Given the description of an element on the screen output the (x, y) to click on. 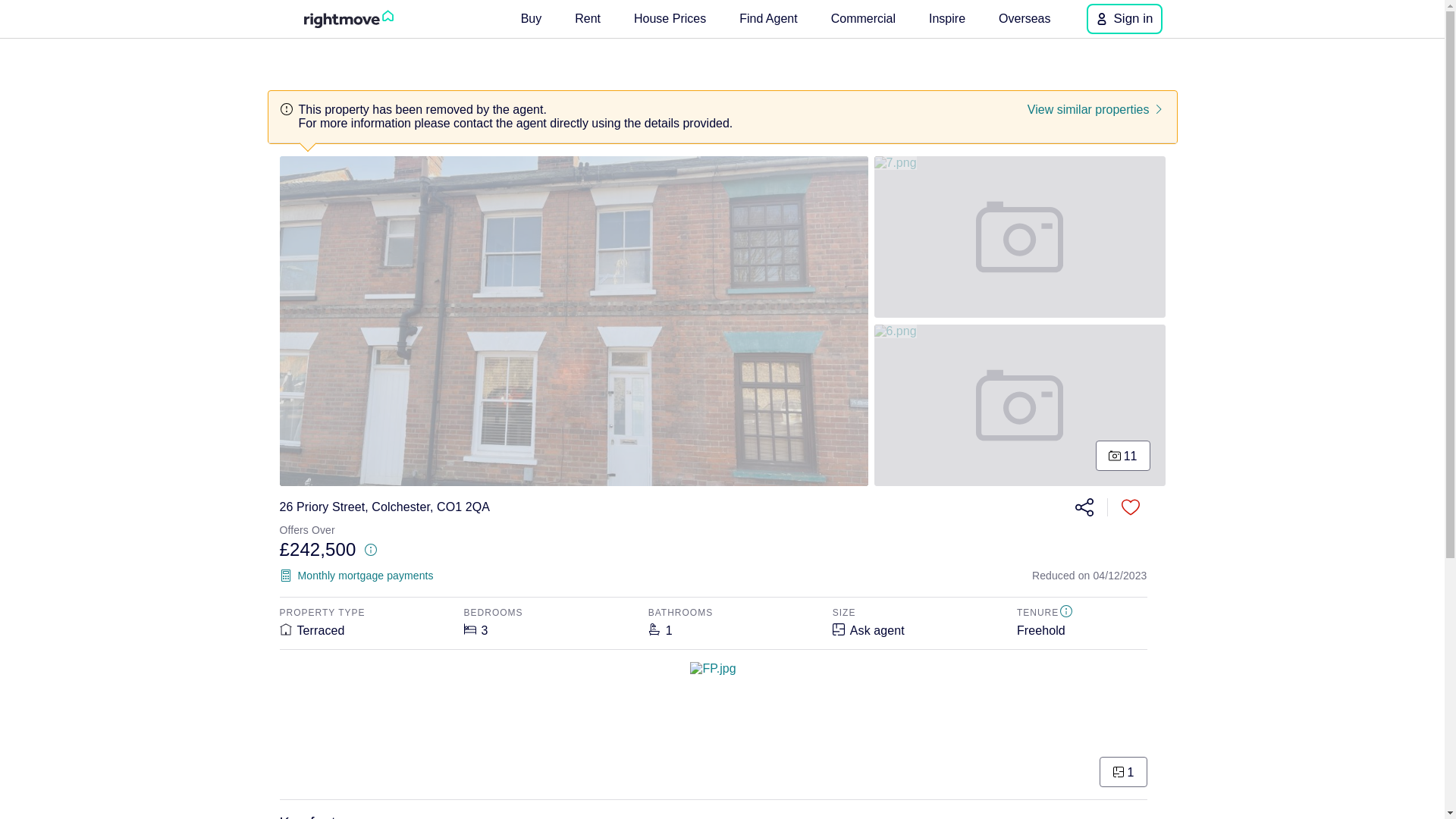
Buy (531, 18)
Overseas (1024, 18)
Share this property (1083, 506)
Commercial (863, 18)
7.png (1020, 236)
Rent (588, 18)
Find Agent (768, 18)
6.png (1020, 405)
Save this property (1130, 506)
Inspire (947, 18)
House Prices (669, 18)
